Given the description of an element on the screen output the (x, y) to click on. 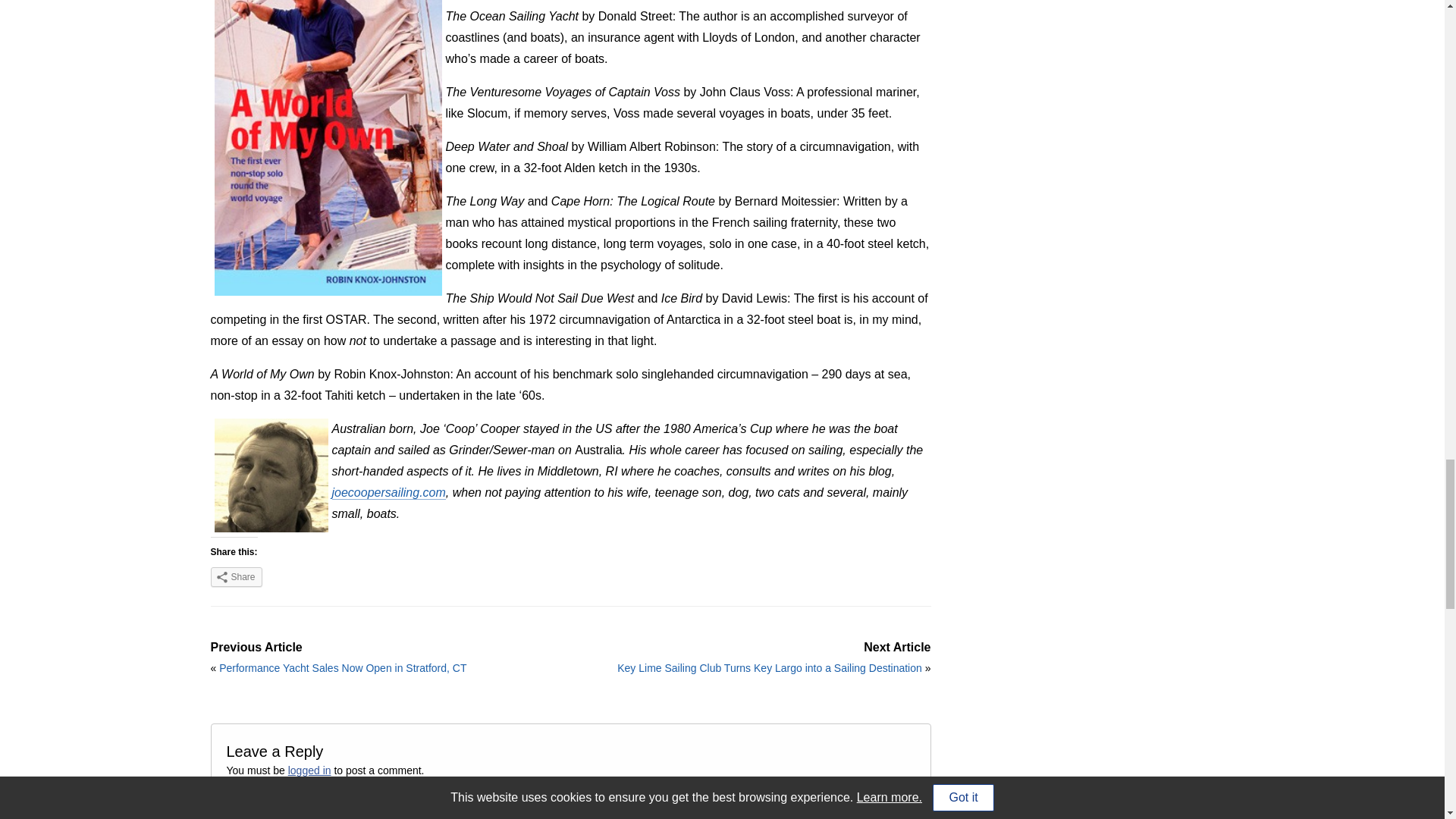
joecoopersailing.com (388, 492)
Share (236, 577)
Performance Yacht Sales Now Open in Stratford, CT (342, 667)
logged in (309, 770)
